Given the description of an element on the screen output the (x, y) to click on. 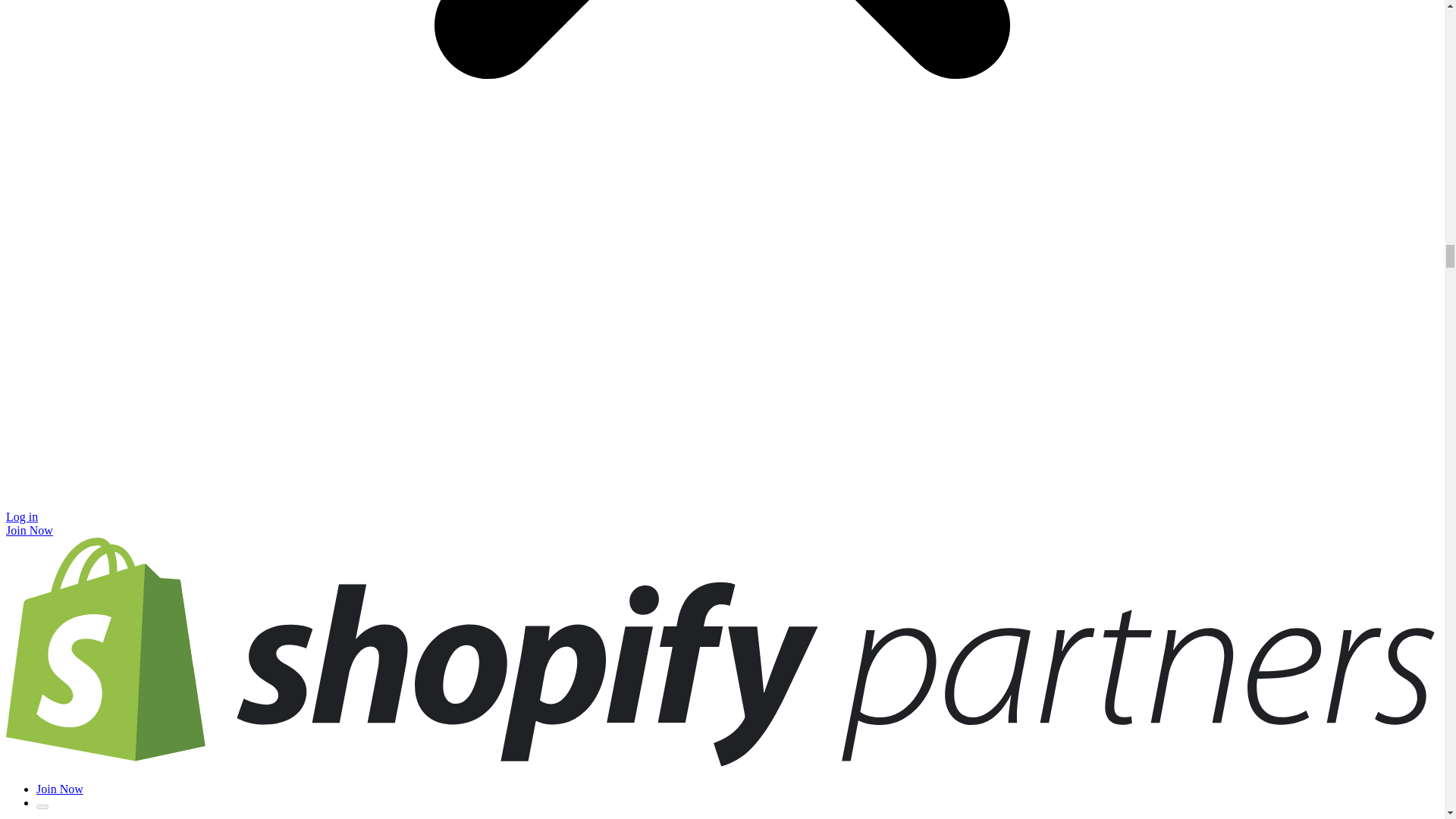
Join Now (59, 788)
Log in (21, 516)
Join Now (28, 530)
